Given the description of an element on the screen output the (x, y) to click on. 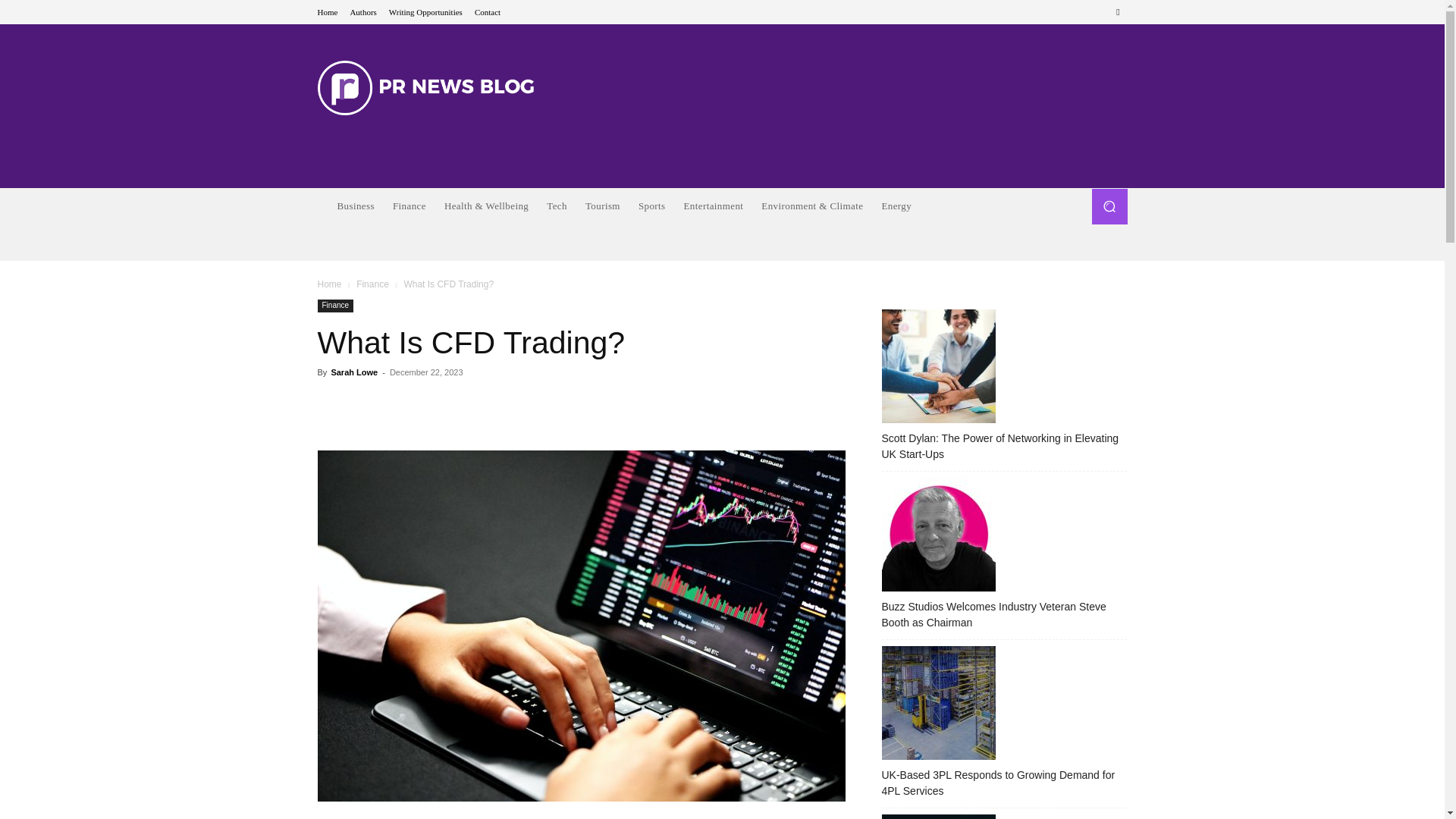
Business (354, 206)
Finance (409, 206)
Authors (362, 11)
Facebook (1117, 12)
Home (327, 11)
Contact (487, 11)
Writing Opportunities (425, 11)
